Given the description of an element on the screen output the (x, y) to click on. 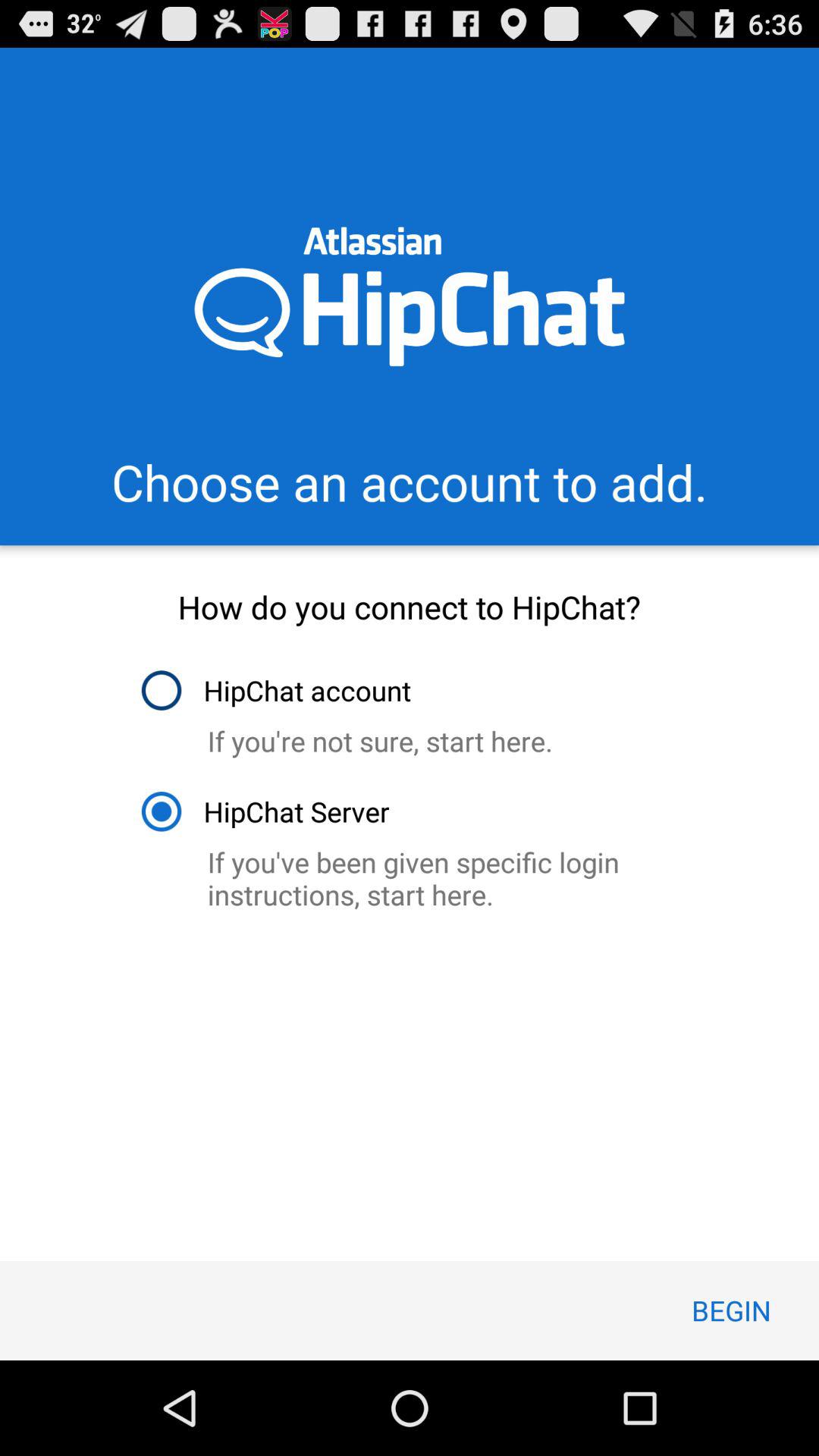
scroll until hipchat server (264, 811)
